Given the description of an element on the screen output the (x, y) to click on. 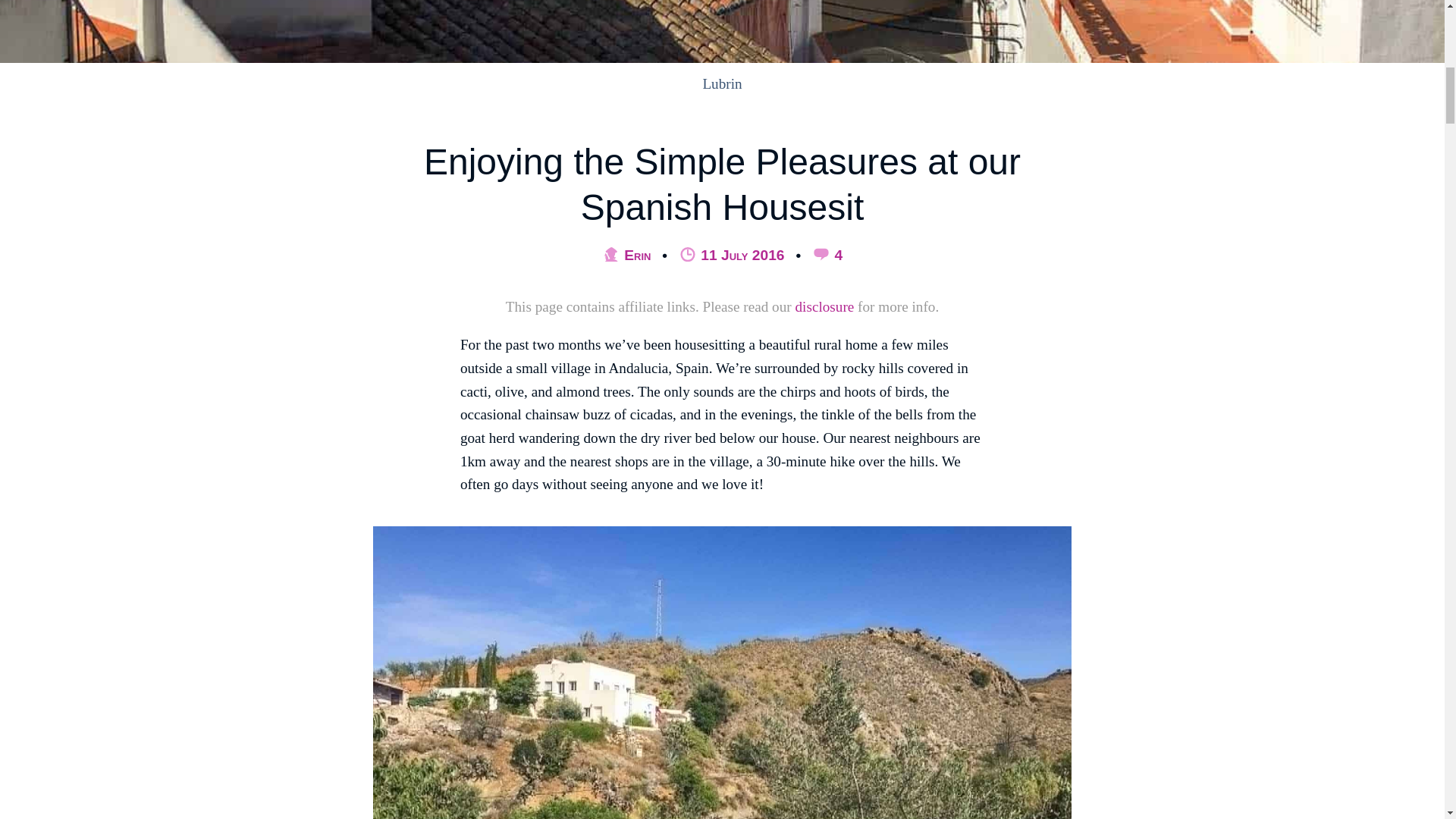
Learn more about Erin (626, 254)
nev-clock (687, 256)
nev-balloon (820, 256)
11:00 (733, 254)
